Given the description of an element on the screen output the (x, y) to click on. 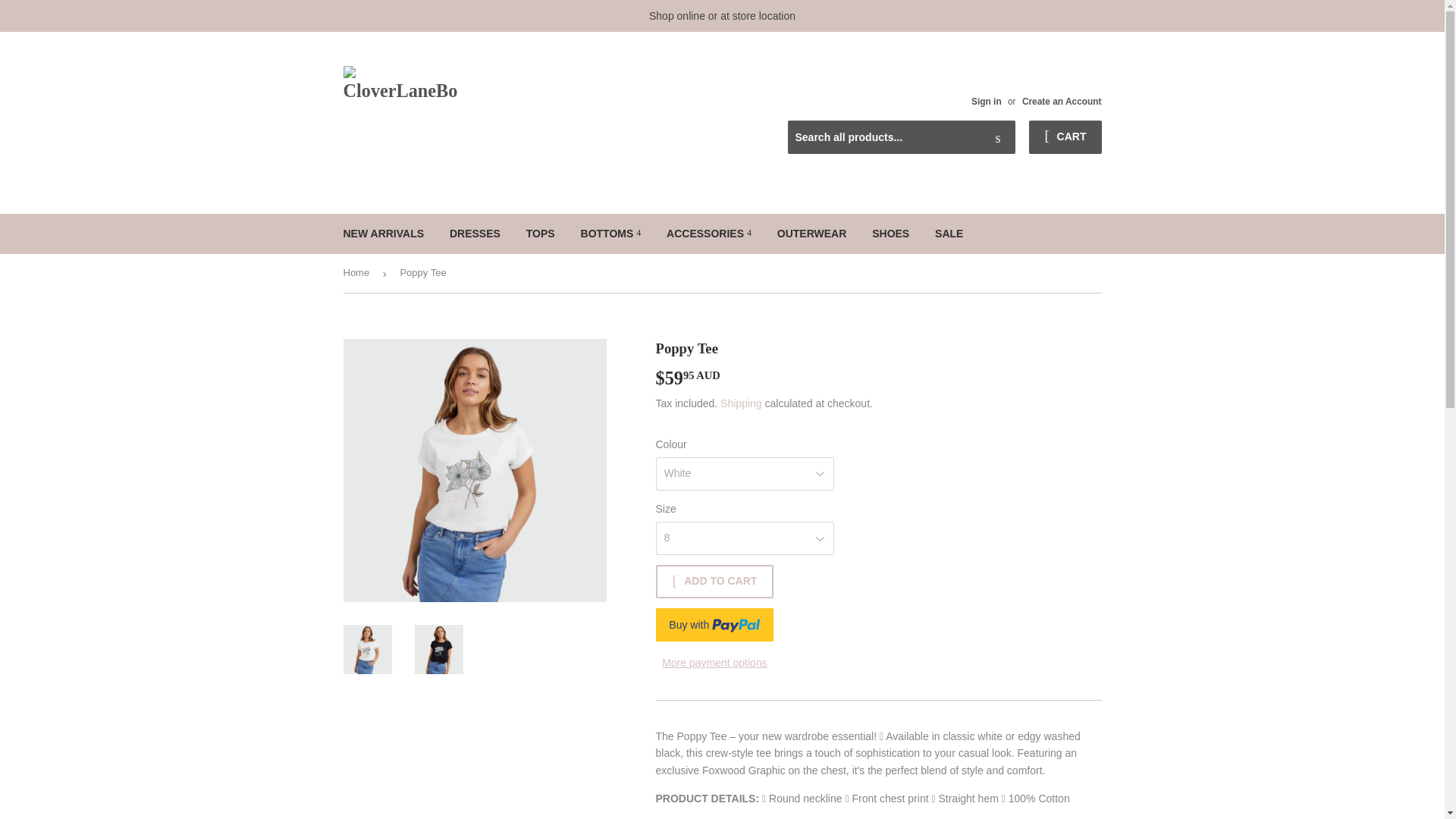
TOPS (540, 233)
DRESSES (475, 233)
CART (1064, 136)
SALE (948, 233)
Create an Account (1062, 101)
NEW ARRIVALS (383, 233)
Search (997, 137)
SHOES (890, 233)
ACCESSORIES (708, 233)
OUTERWEAR (812, 233)
